Given the description of an element on the screen output the (x, y) to click on. 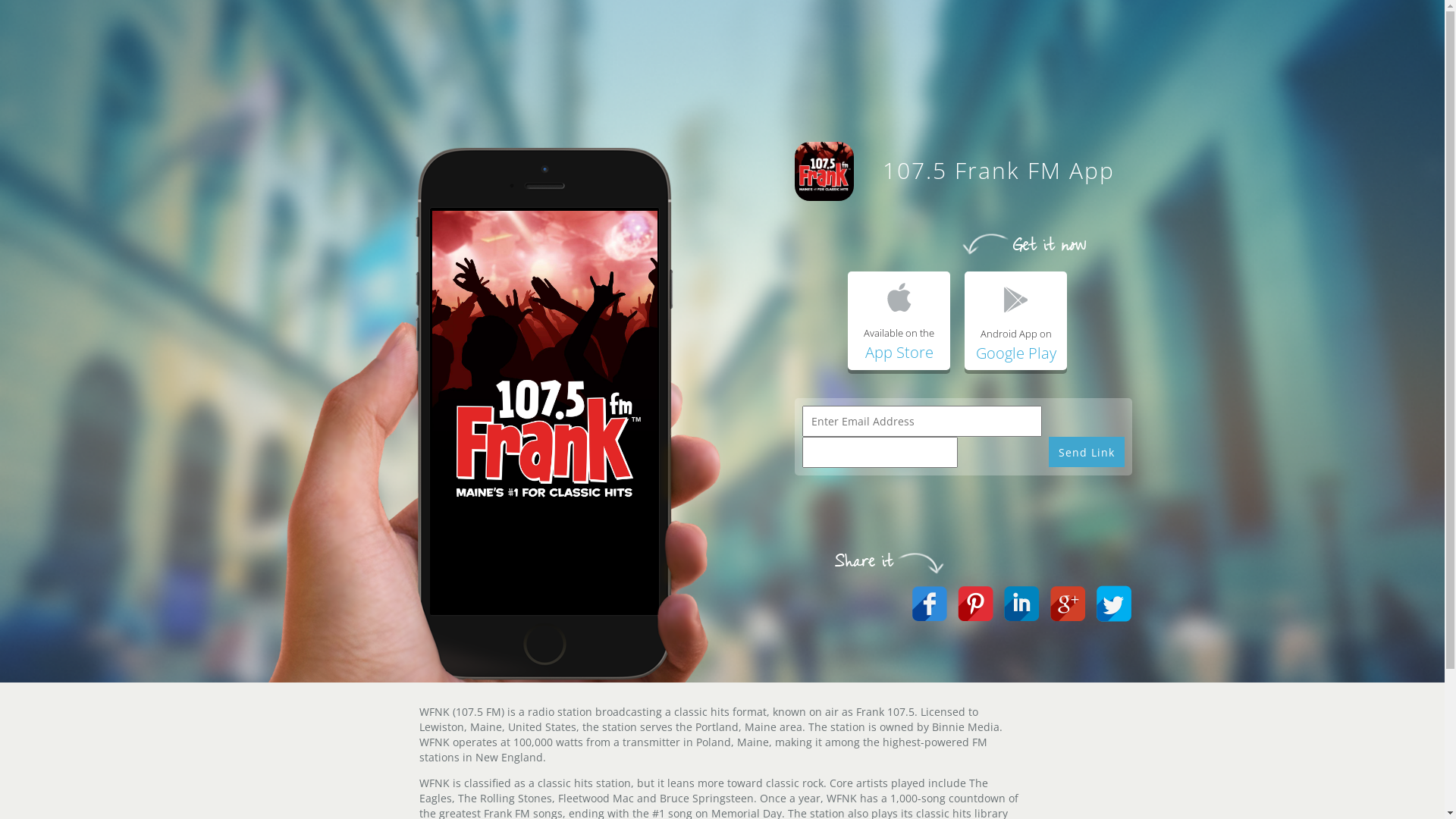
Google Play Element type: text (1015, 352)
Send Link Element type: text (1085, 451)
App Store Element type: text (898, 352)
